Given the description of an element on the screen output the (x, y) to click on. 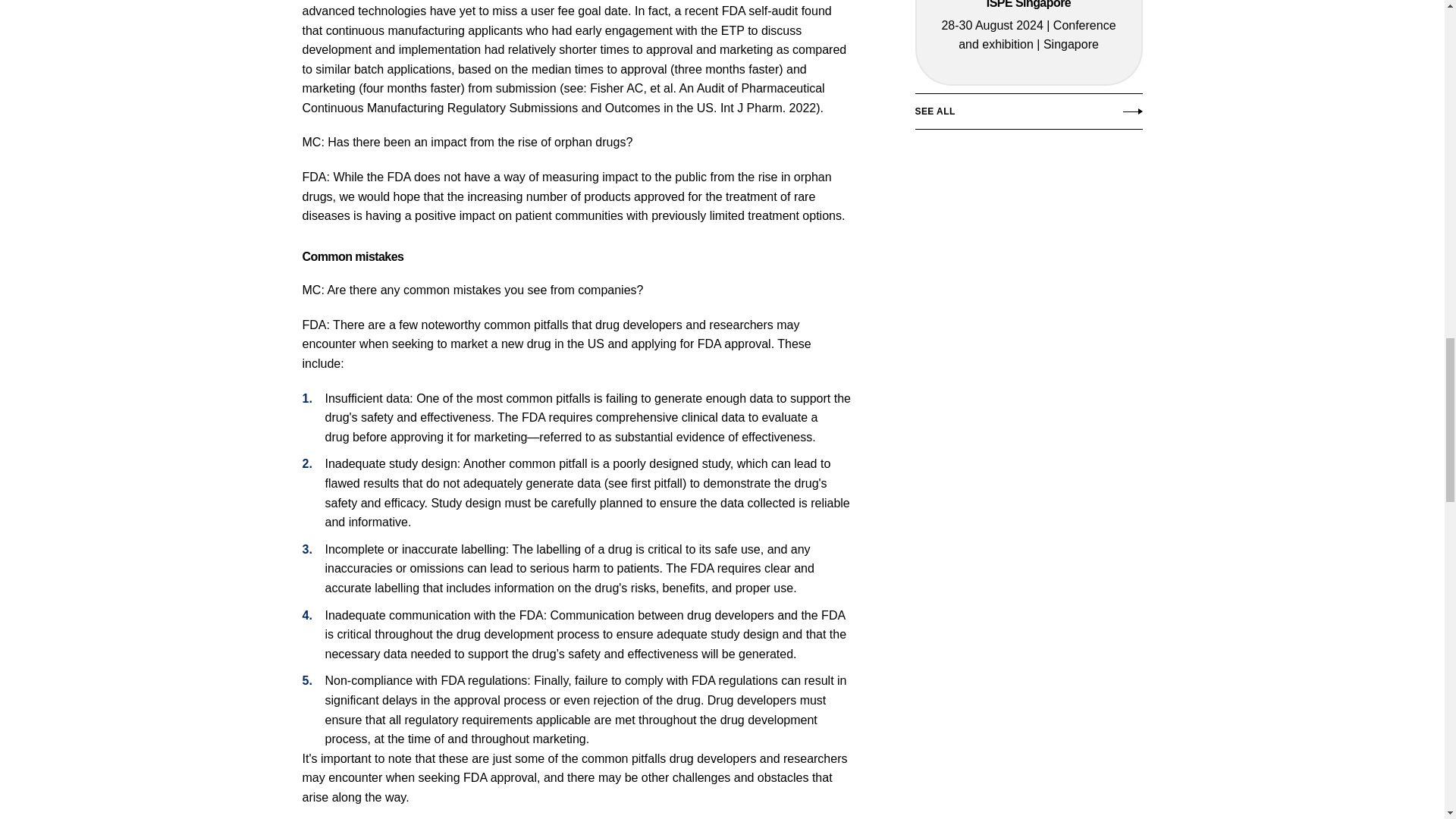
SEE ALL (1027, 114)
